Given the description of an element on the screen output the (x, y) to click on. 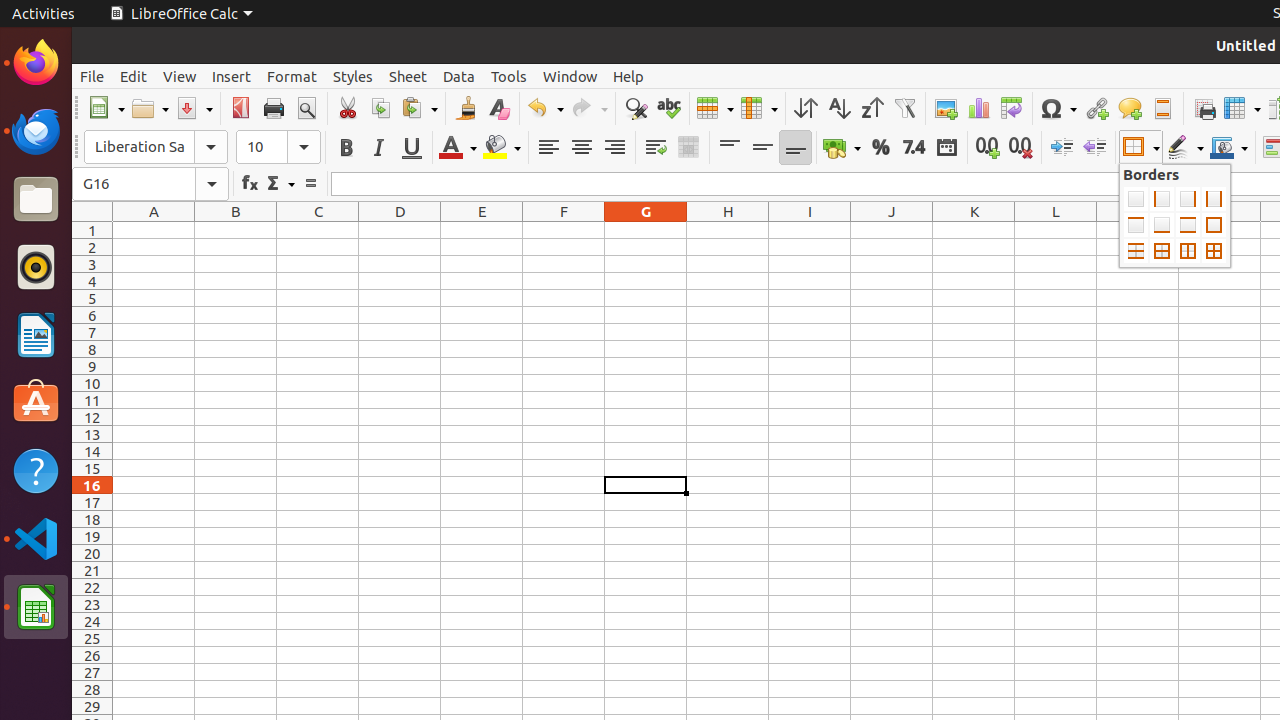
Print Area Element type: push-button (1203, 108)
N1 Element type: table-cell (1220, 230)
Column Element type: push-button (759, 108)
